Given the description of an element on the screen output the (x, y) to click on. 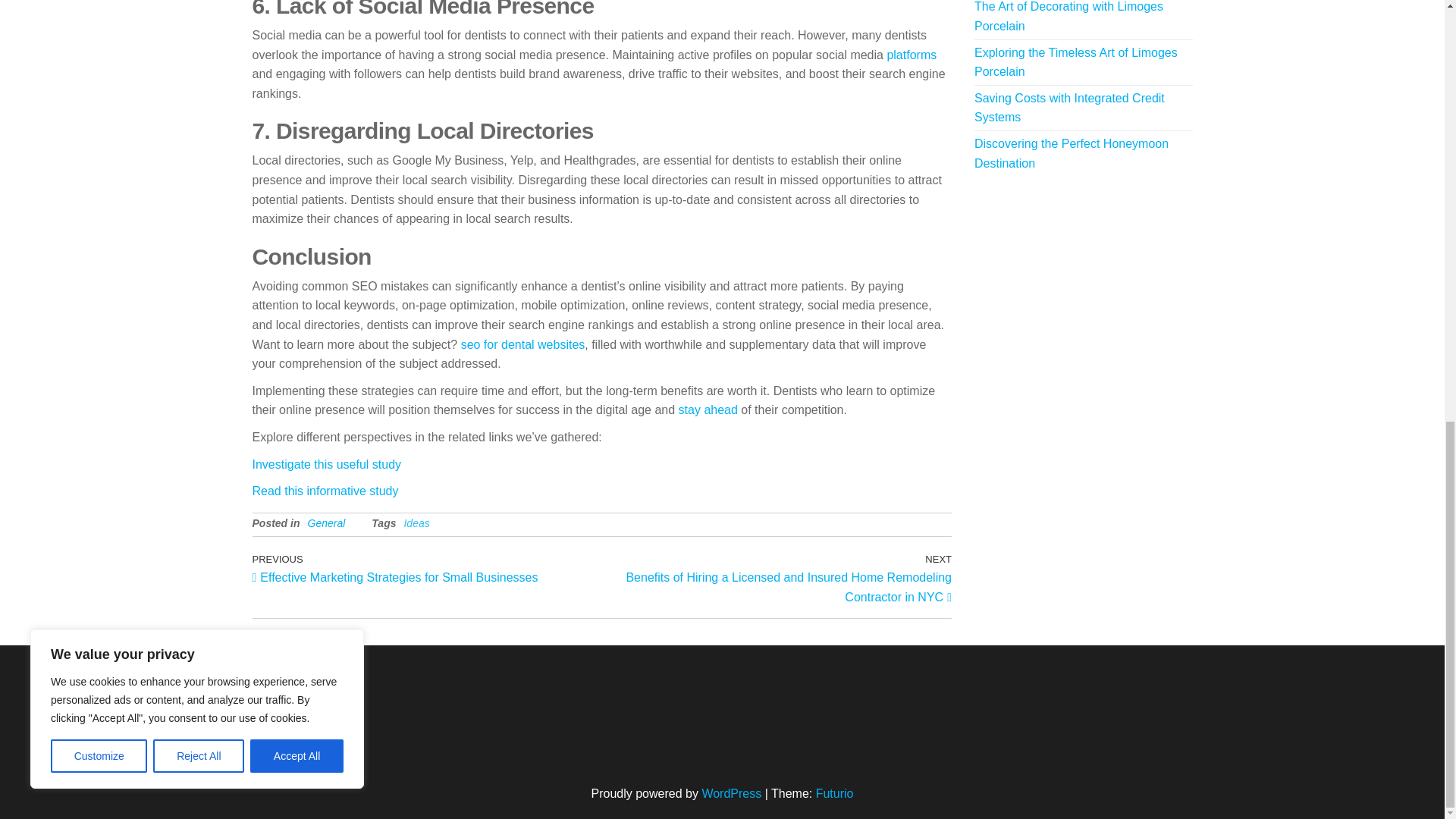
Ideas (416, 522)
Read this informative study (324, 490)
platforms (911, 54)
Investigate this useful study (326, 463)
General (326, 522)
seo for dental websites (523, 344)
stay ahead (708, 409)
